Given the description of an element on the screen output the (x, y) to click on. 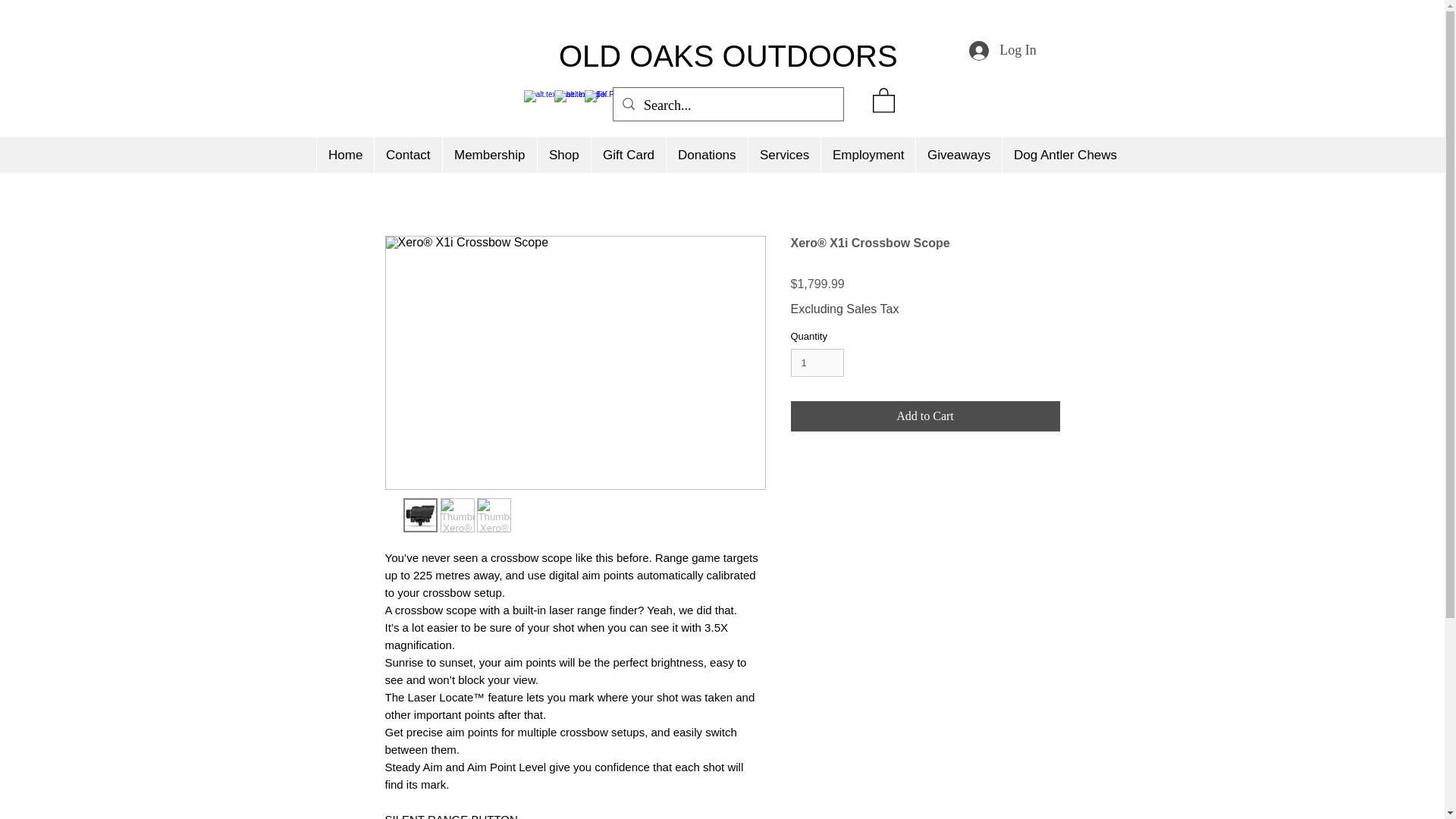
Donations (706, 154)
Contact (408, 154)
Shop (564, 154)
Membership (489, 154)
Log In (1002, 50)
Home (344, 154)
OLD OAKS OUTDOORS (728, 56)
1 (817, 362)
Gift Card (628, 154)
